Given the description of an element on the screen output the (x, y) to click on. 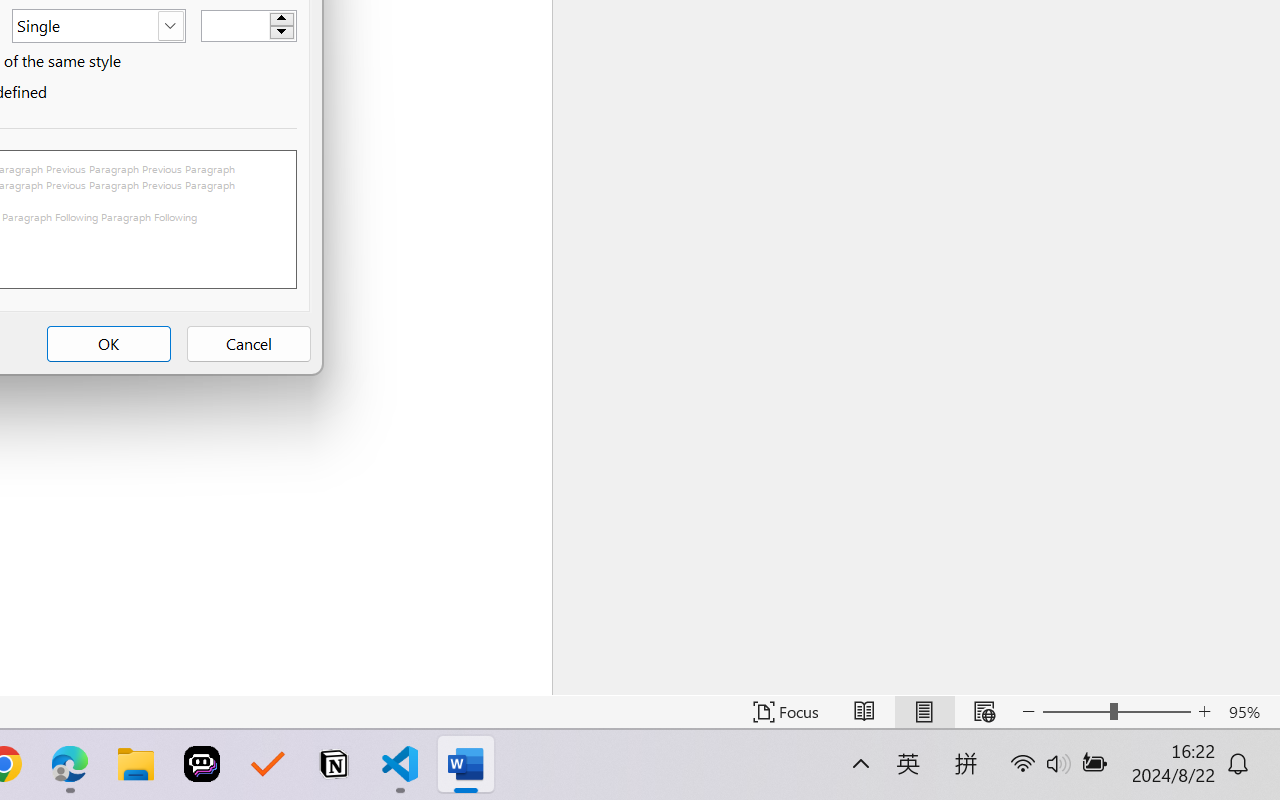
Notion (333, 764)
OK (108, 343)
Zoom 95% (1249, 712)
At: (248, 25)
